Given the description of an element on the screen output the (x, y) to click on. 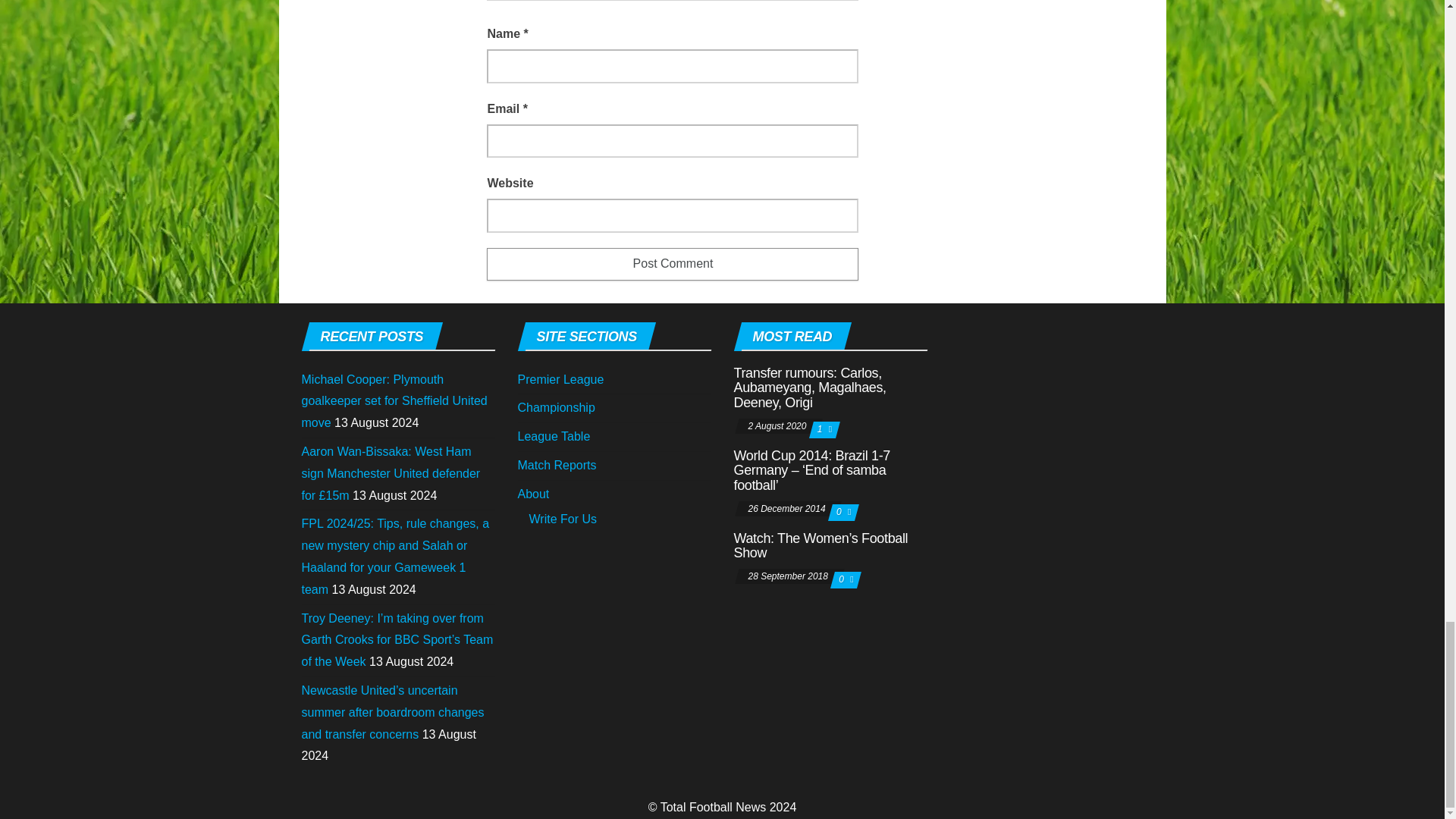
Post Comment (672, 264)
Post Comment (672, 264)
